Given the description of an element on the screen output the (x, y) to click on. 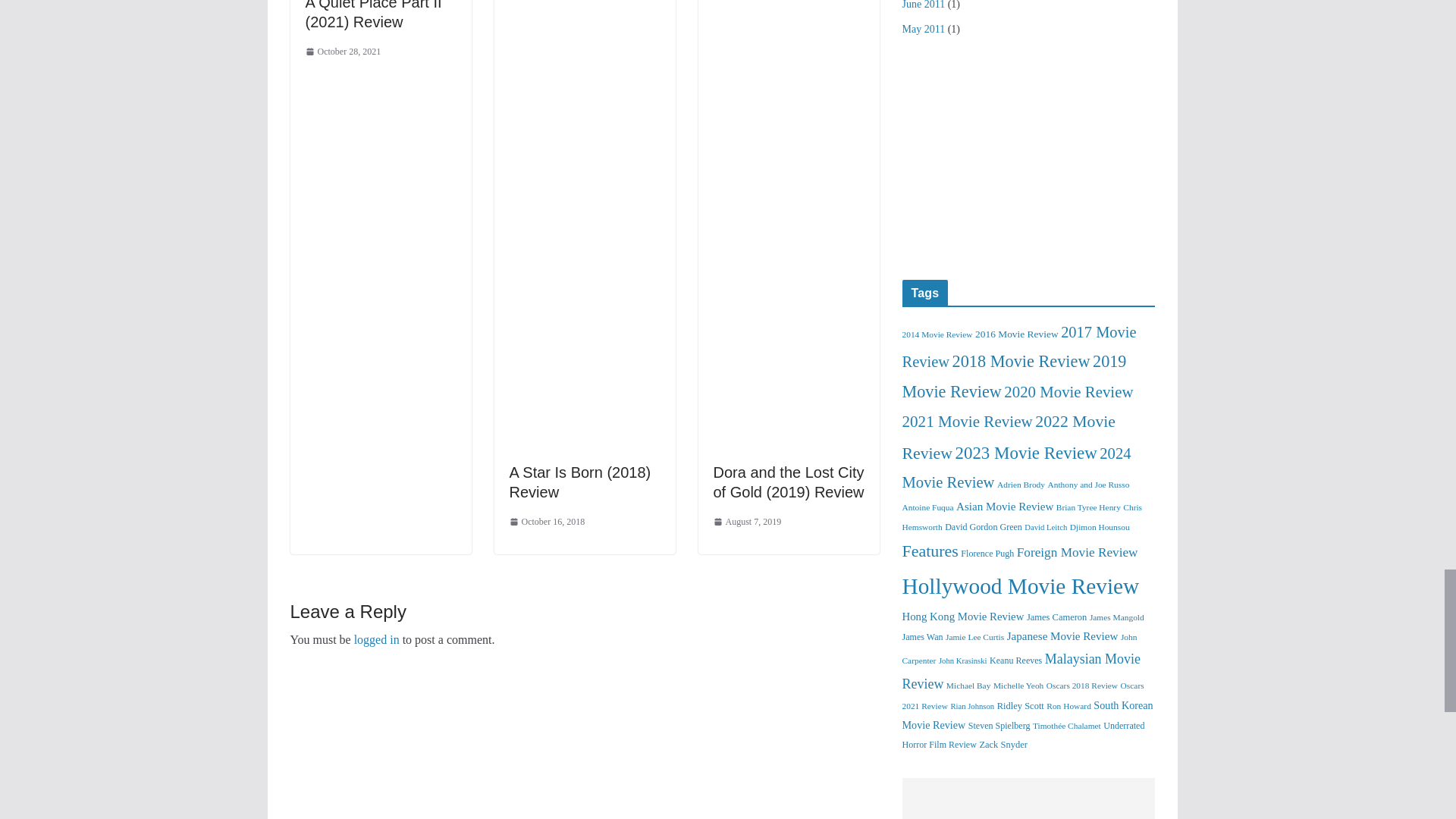
October 16, 2018 (547, 522)
August 7, 2019 (746, 522)
logged in (375, 639)
October 28, 2021 (342, 52)
